Given the description of an element on the screen output the (x, y) to click on. 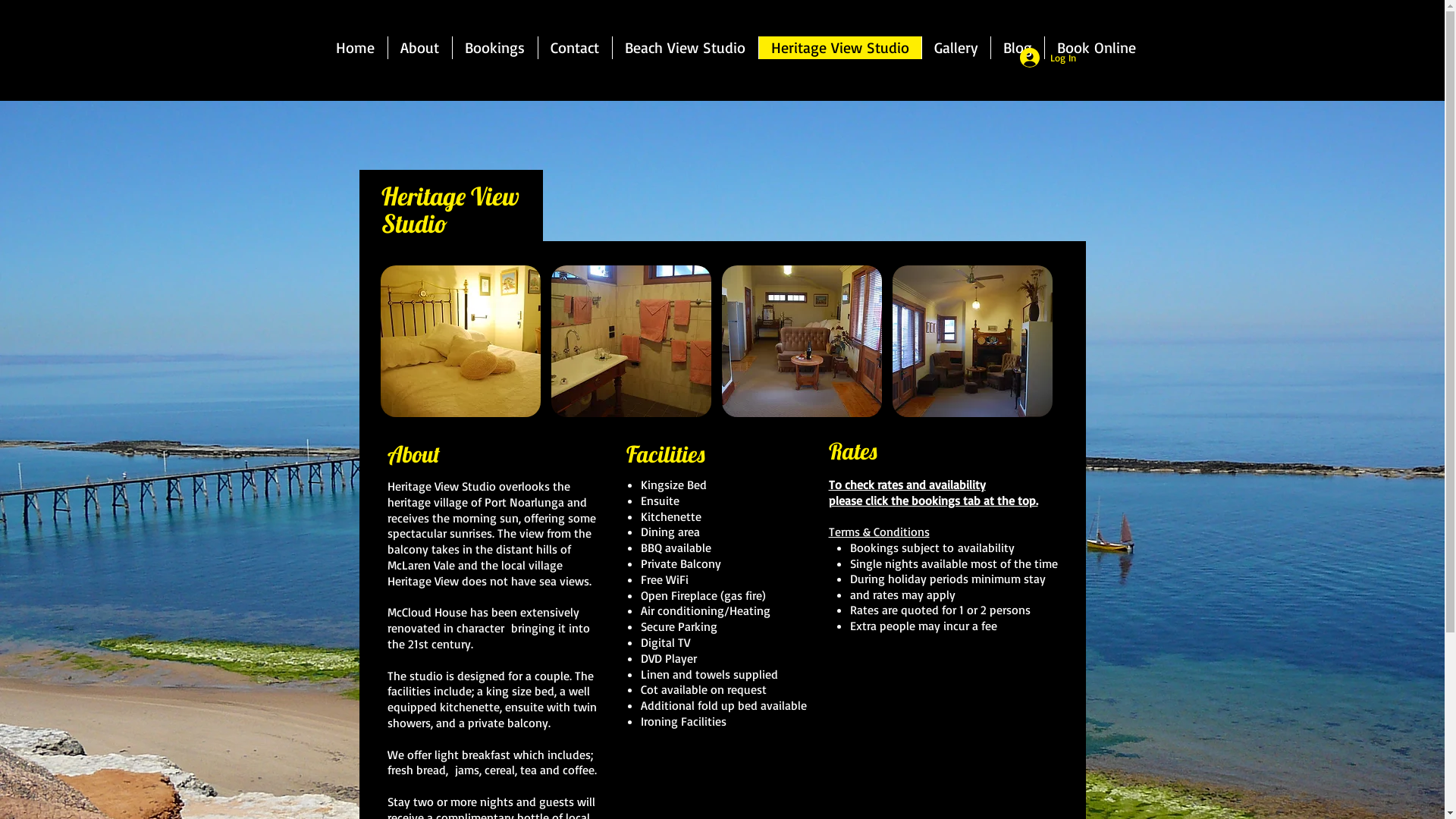
Book Online Element type: text (1095, 47)
Log In Element type: text (1046, 57)
Blog Element type: text (1017, 47)
Bookings Element type: text (494, 47)
Gallery Element type: text (954, 47)
About Element type: text (418, 47)
Contact Element type: text (573, 47)
Heritage View Studio Element type: text (839, 47)
Home Element type: text (354, 47)
Beach View Studio Element type: text (684, 47)
